Given the description of an element on the screen output the (x, y) to click on. 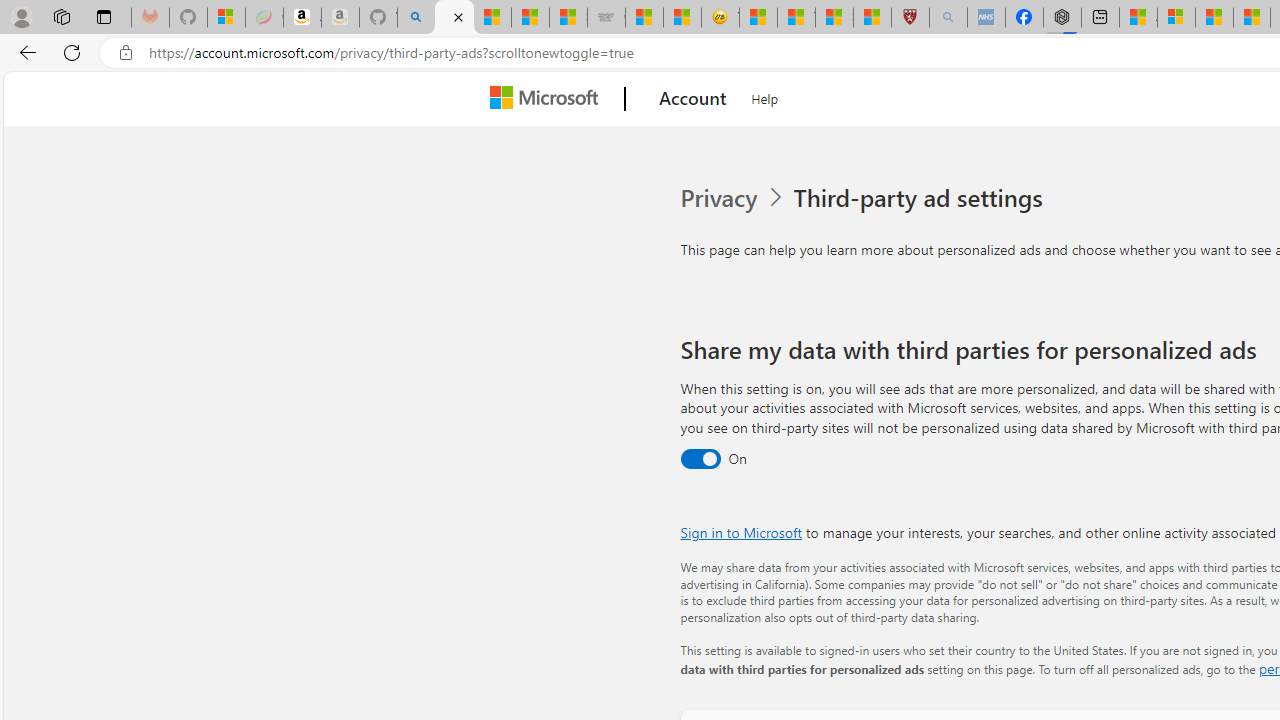
Combat Siege (605, 17)
Stocks - MSN (568, 17)
Science - MSN (833, 17)
